Given the description of an element on the screen output the (x, y) to click on. 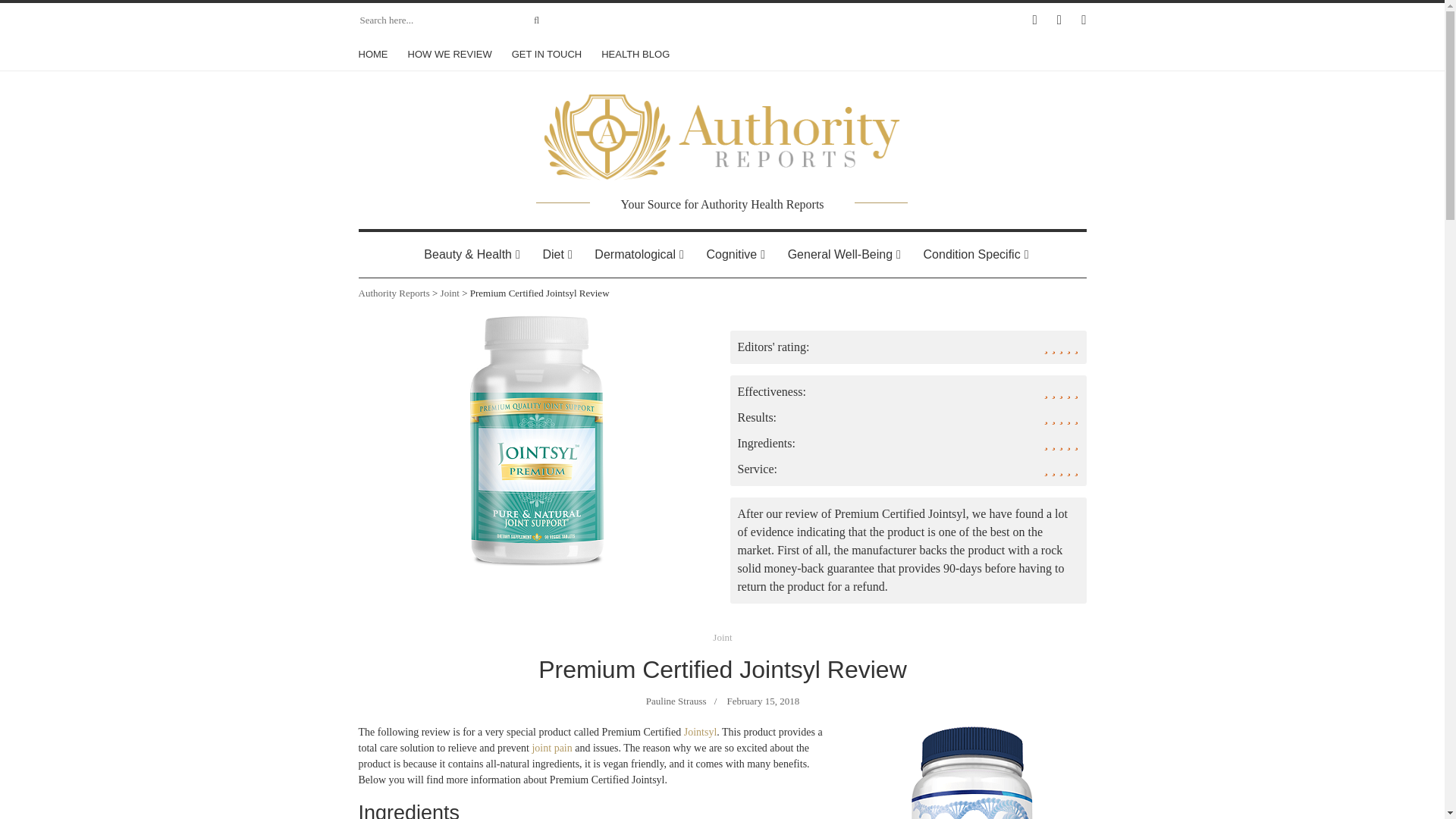
HEALTH BLOG (635, 54)
Results: 5 (907, 421)
Dermatological (634, 254)
HOME (377, 54)
GET IN TOUCH (546, 54)
Editors' rating: 5 (907, 350)
Go to the Joint Category archives. (450, 292)
Posts by Pauline Strauss (675, 700)
HOW WE REVIEW (449, 54)
Effectiveness: 5 (907, 395)
Ingredients: 5 (907, 447)
Service: 5 (907, 473)
Go to Authority Reports. (393, 292)
Home (721, 132)
Diet (552, 254)
